Given the description of an element on the screen output the (x, y) to click on. 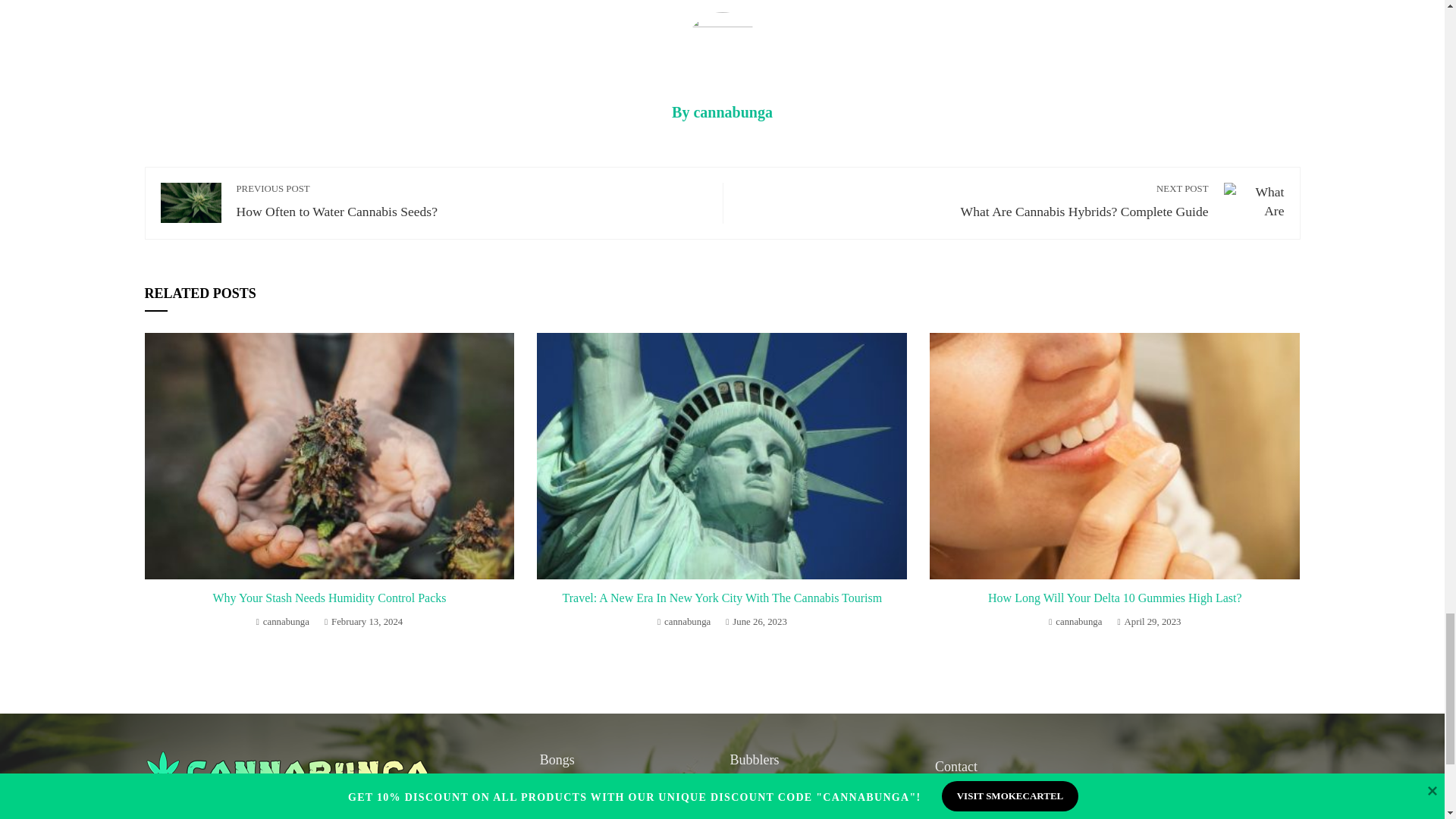
How Often to Water Cannabis Seeds? 1 (190, 202)
Travel: A New Era in New York City with the Cannabis Tourism (722, 597)
How Long Will Your Delta 10 Gummies High Last? (1114, 597)
What Are Cannabis Hybrids? Complete Guide 2 (1254, 202)
Why Your Stash Needs Humidity Control Packs (328, 597)
